Given the description of an element on the screen output the (x, y) to click on. 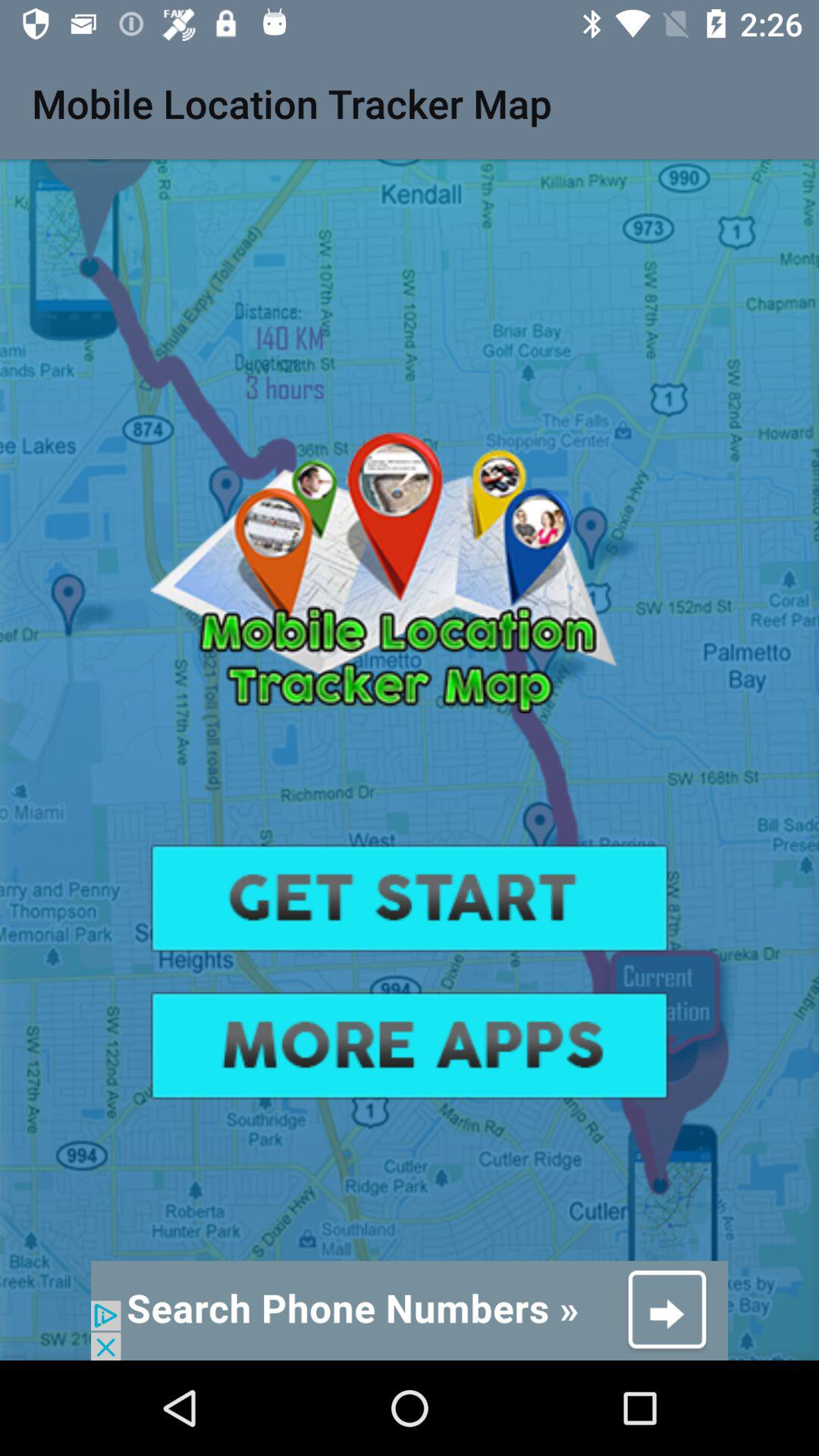
go to more application (409, 1045)
